Given the description of an element on the screen output the (x, y) to click on. 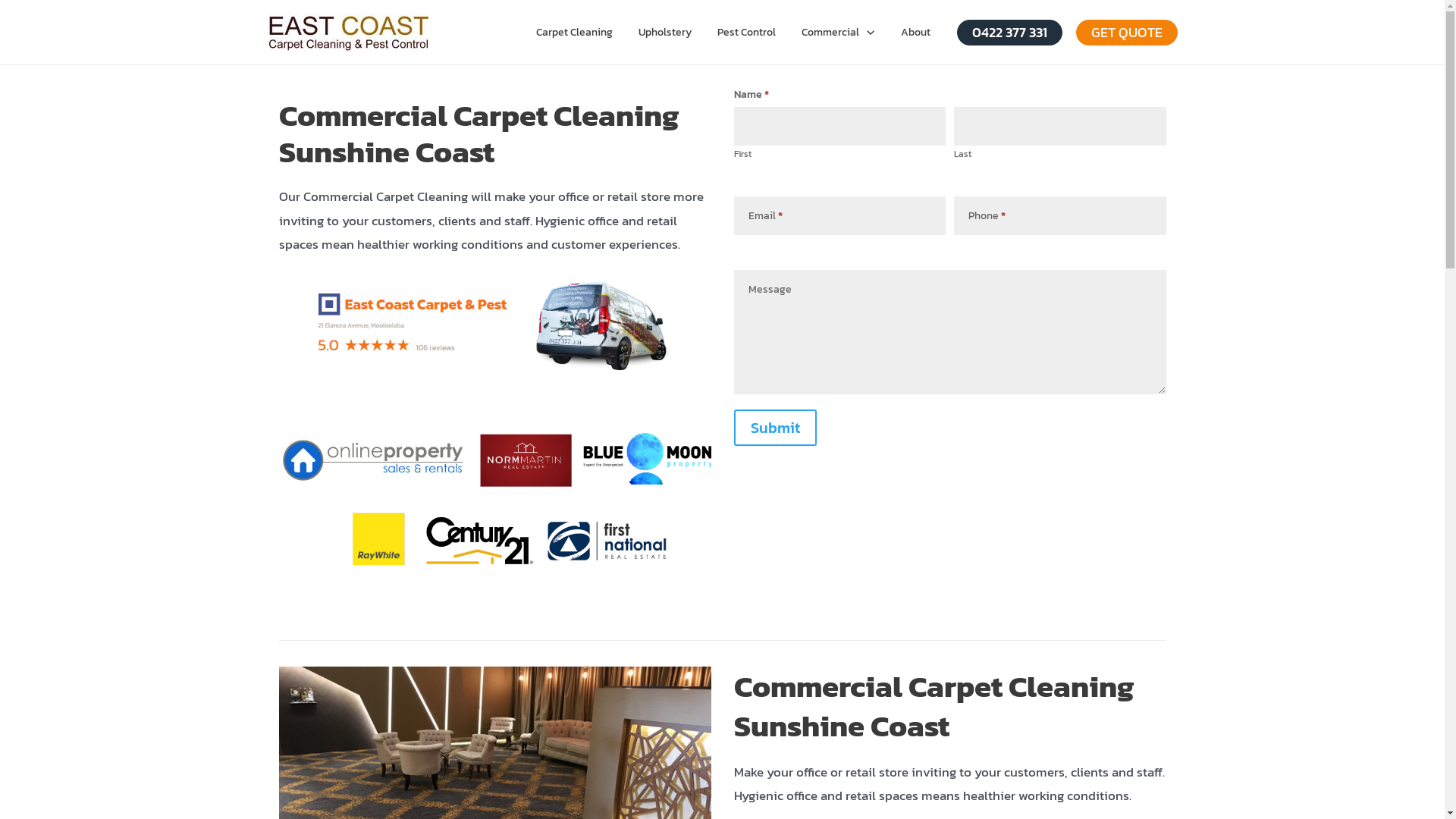
Upholstery Element type: text (664, 31)
0422 377 331 Element type: text (1009, 32)
GET QUOTE Element type: text (1125, 32)
Pest Control Element type: text (746, 31)
Submit Element type: text (775, 427)
Carpet Cleaning Element type: text (574, 31)
About Element type: text (914, 31)
Commercial Element type: text (837, 31)
